Given the description of an element on the screen output the (x, y) to click on. 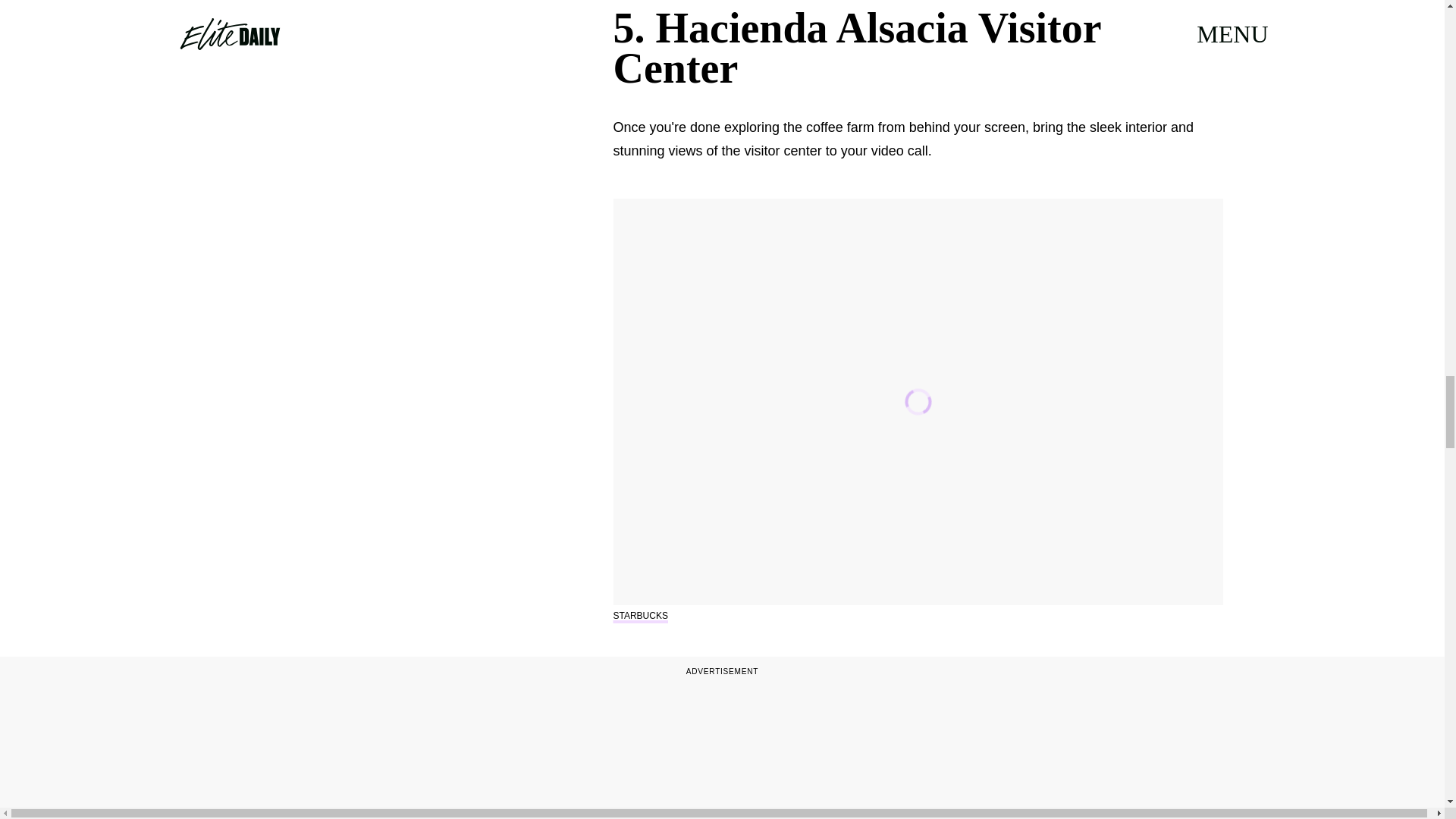
STARBUCKS (639, 615)
